Given the description of an element on the screen output the (x, y) to click on. 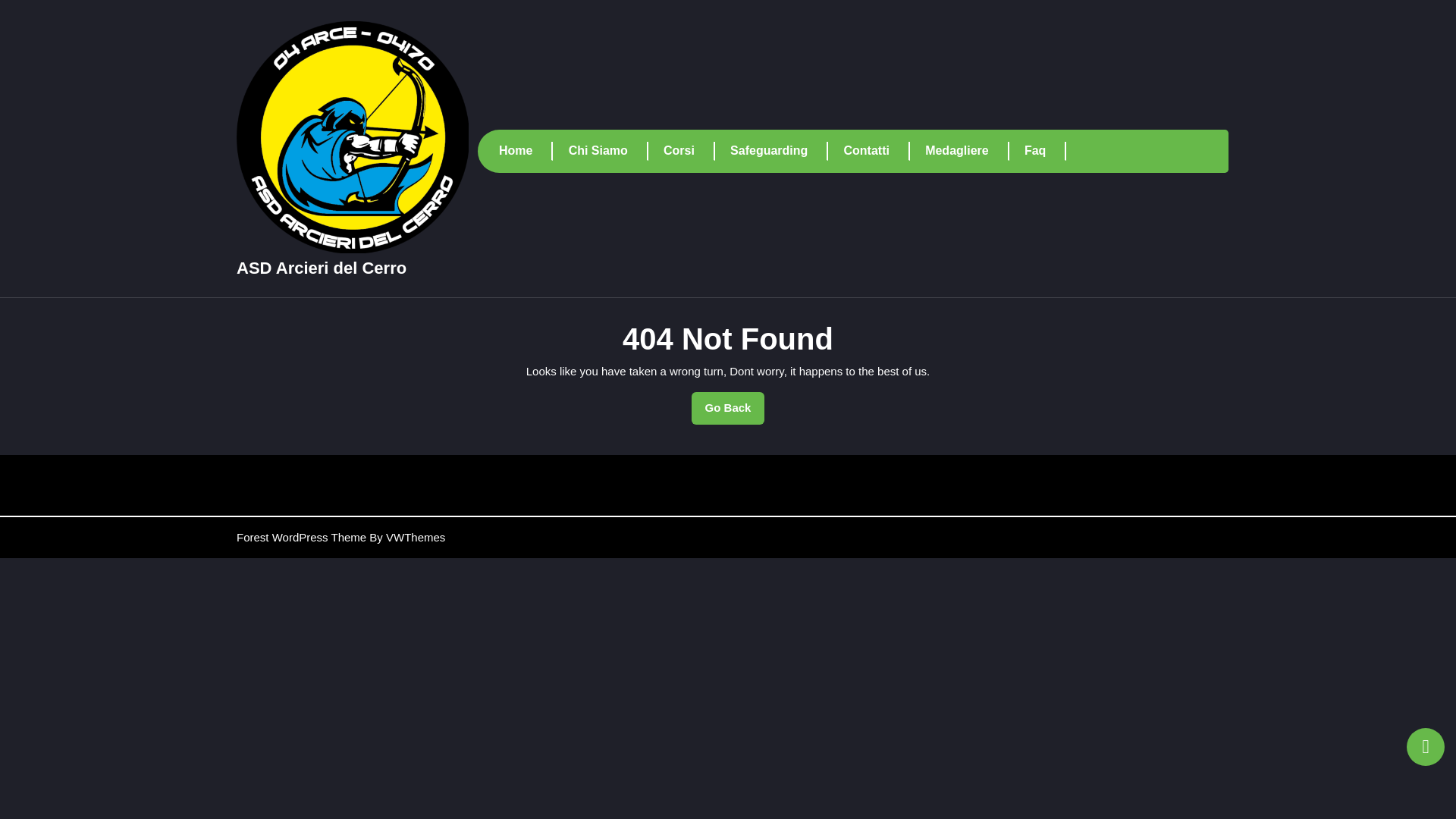
Forest WordPress Theme (300, 536)
Faq (1045, 150)
Safeguarding (779, 150)
Medagliere (966, 150)
Contatti (877, 150)
Home (526, 150)
Corsi (688, 150)
ASD Arcieri del Cerro (320, 267)
Chi Siamo (608, 150)
